Given the description of an element on the screen output the (x, y) to click on. 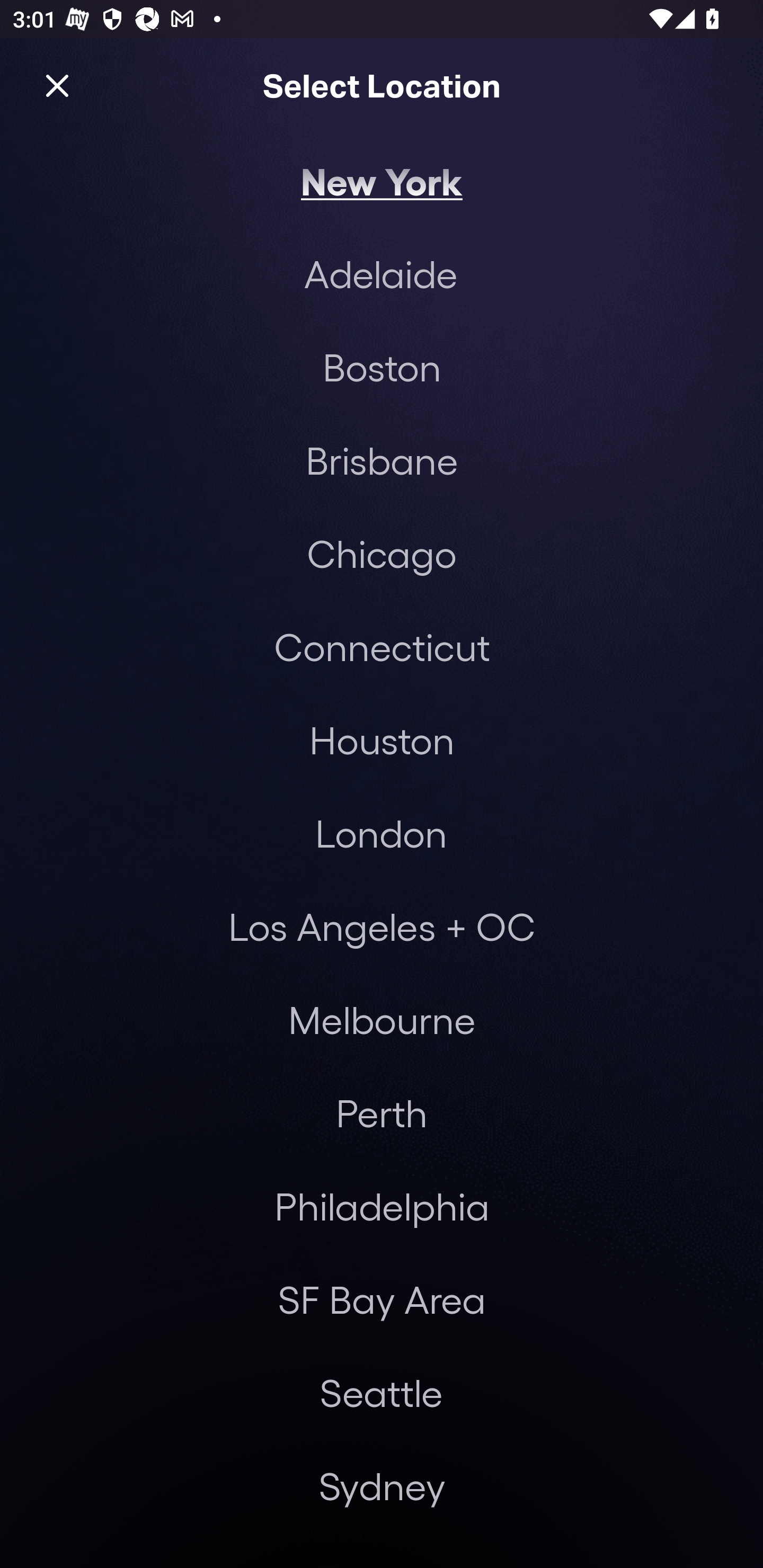
Close (57, 85)
New York (381, 180)
Adelaide (380, 273)
Boston (381, 366)
Brisbane (381, 459)
Chicago (381, 553)
Connecticut (381, 646)
Houston (381, 740)
London (380, 833)
Los Angeles + OC (381, 926)
Melbourne (381, 1019)
Perth (381, 1113)
Philadelphia (381, 1206)
SF Bay Area (381, 1298)
Seattle (380, 1392)
Sydney (381, 1485)
